Given the description of an element on the screen output the (x, y) to click on. 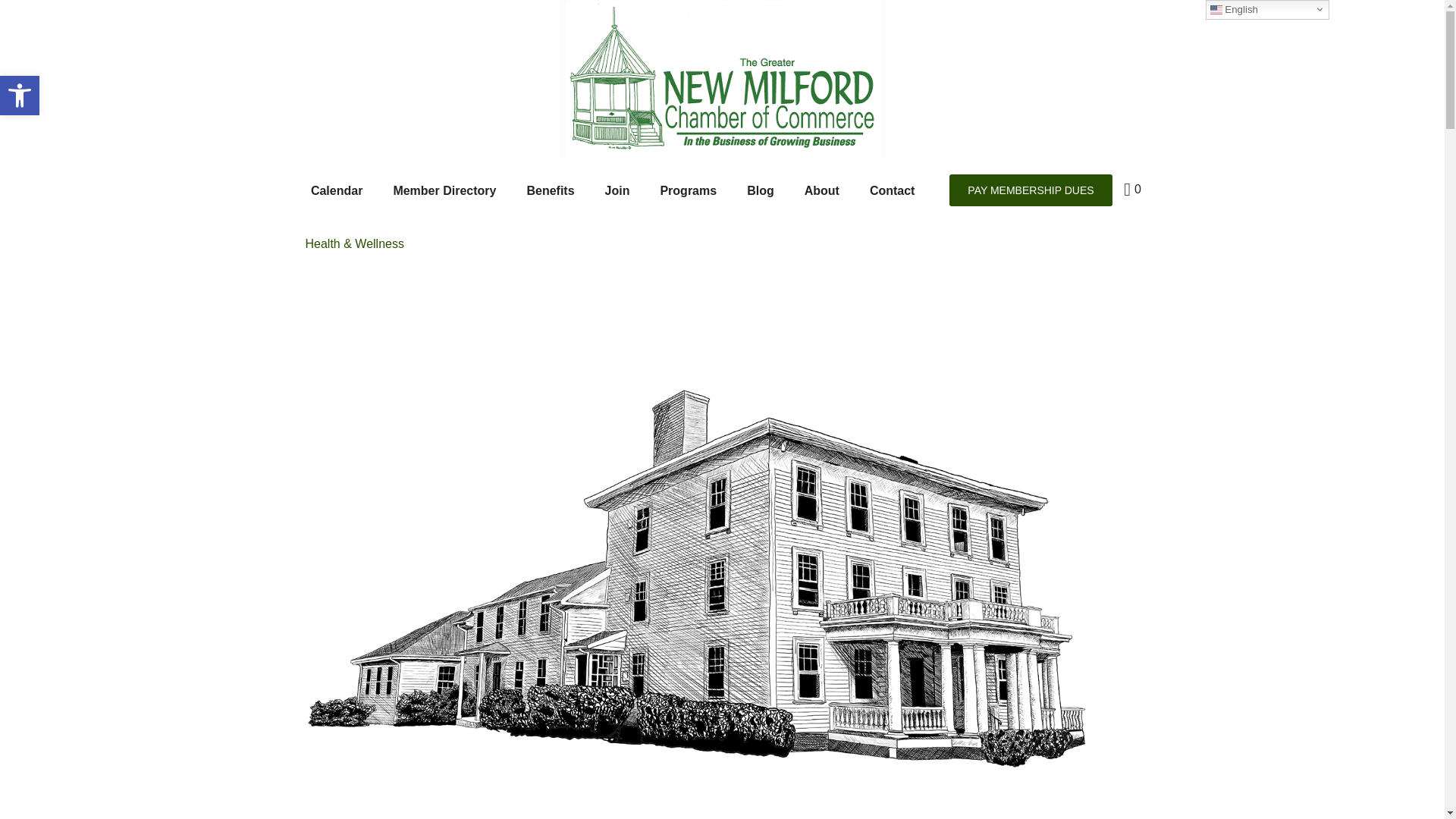
Accessibility Tools (19, 95)
Accessibility Tools (19, 95)
Washington Home Care LLC (19, 95)
Washington Home Care LLC (721, 586)
